Given the description of an element on the screen output the (x, y) to click on. 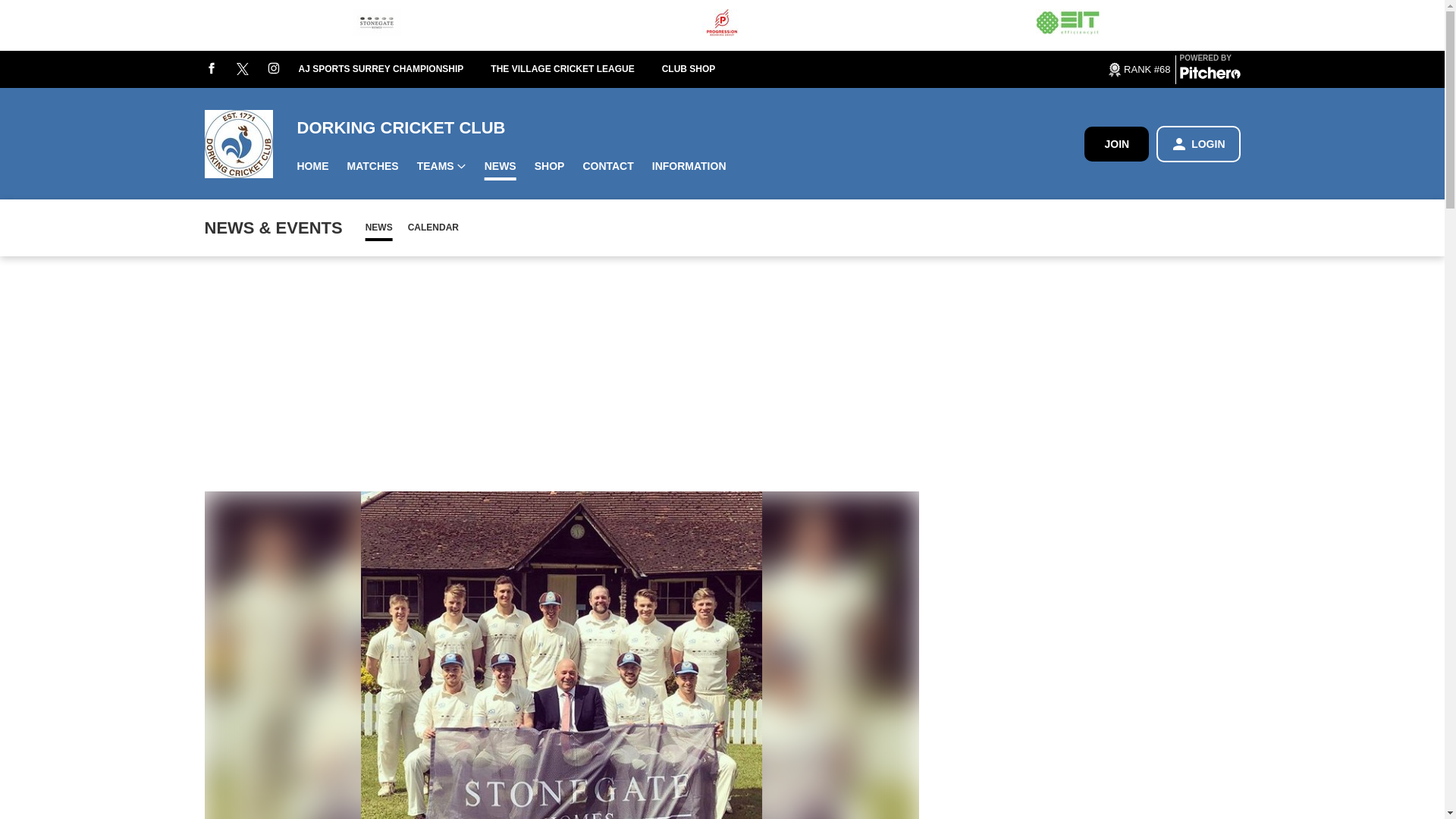
LOGIN (1198, 144)
NEWS (500, 165)
MATCHES (372, 165)
JOIN (1116, 143)
CONTACT (607, 165)
Club Sponsor - Stonegate Homes (377, 25)
HOME (312, 165)
Training Sponsor - Progression Group (722, 25)
THE VILLAGE CRICKET LEAGUE (575, 69)
DORKING CRICKET CLUB (690, 127)
Pitchero (1209, 75)
JOIN (1116, 143)
Youth Sponsor - EfficiencyIT (1067, 25)
Pitchero Rankings (1137, 69)
INFORMATION (689, 165)
